Given the description of an element on the screen output the (x, y) to click on. 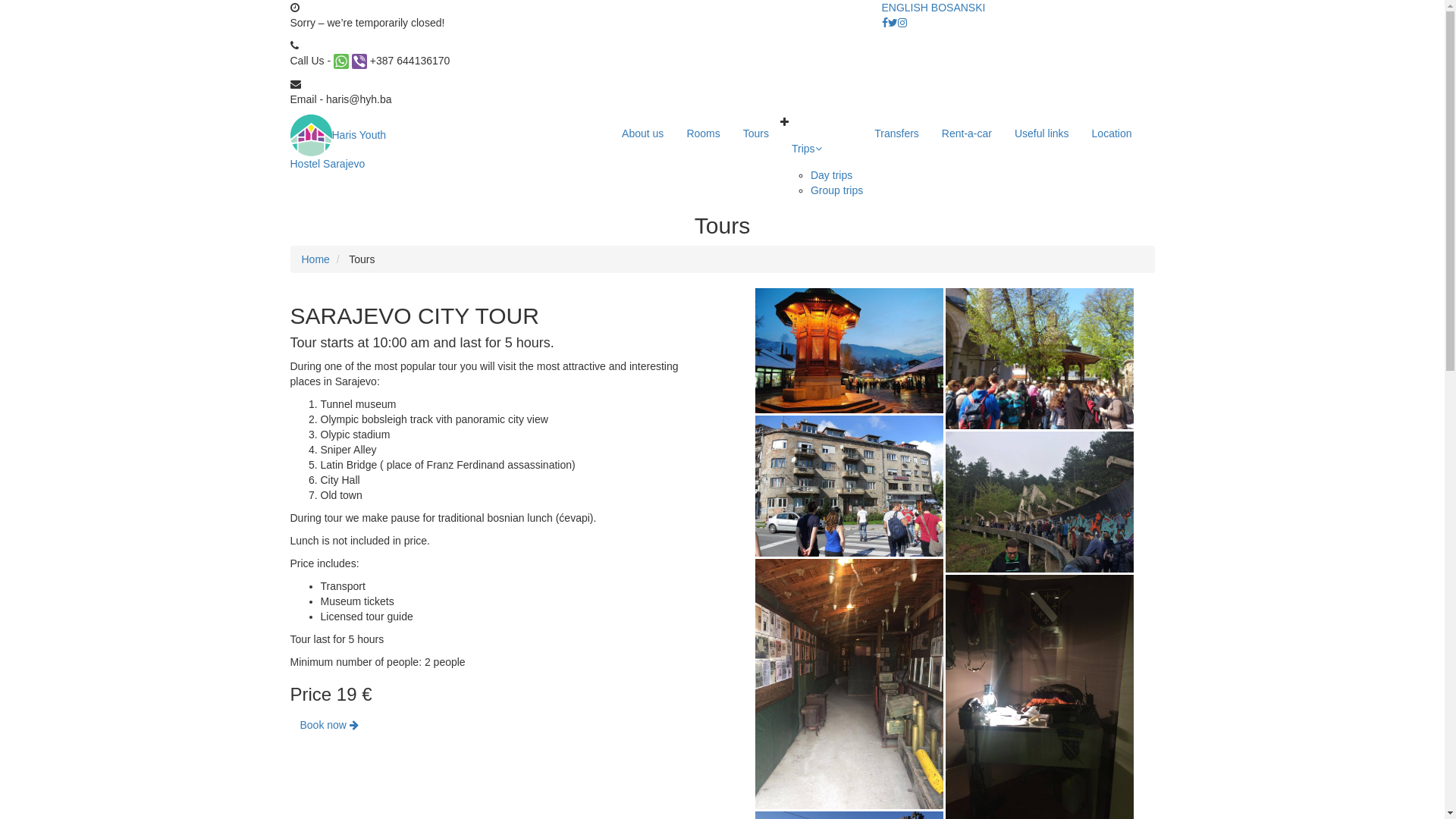
Rooms Element type: text (702, 133)
Tours Element type: text (755, 133)
Rent-a-car Element type: text (966, 133)
Day trips Element type: text (831, 175)
Haris Youth
Hostel Sarajevo Element type: text (337, 149)
Trips Element type: text (821, 148)
Location Element type: text (1111, 133)
About us Element type: text (642, 133)
ENGLISH Element type: text (904, 7)
BOSANSKI Element type: text (958, 7)
Transfers Element type: text (896, 133)
Useful links Element type: text (1041, 133)
Home Element type: text (315, 259)
Group trips Element type: text (836, 190)
Book now Element type: text (328, 724)
